Given the description of an element on the screen output the (x, y) to click on. 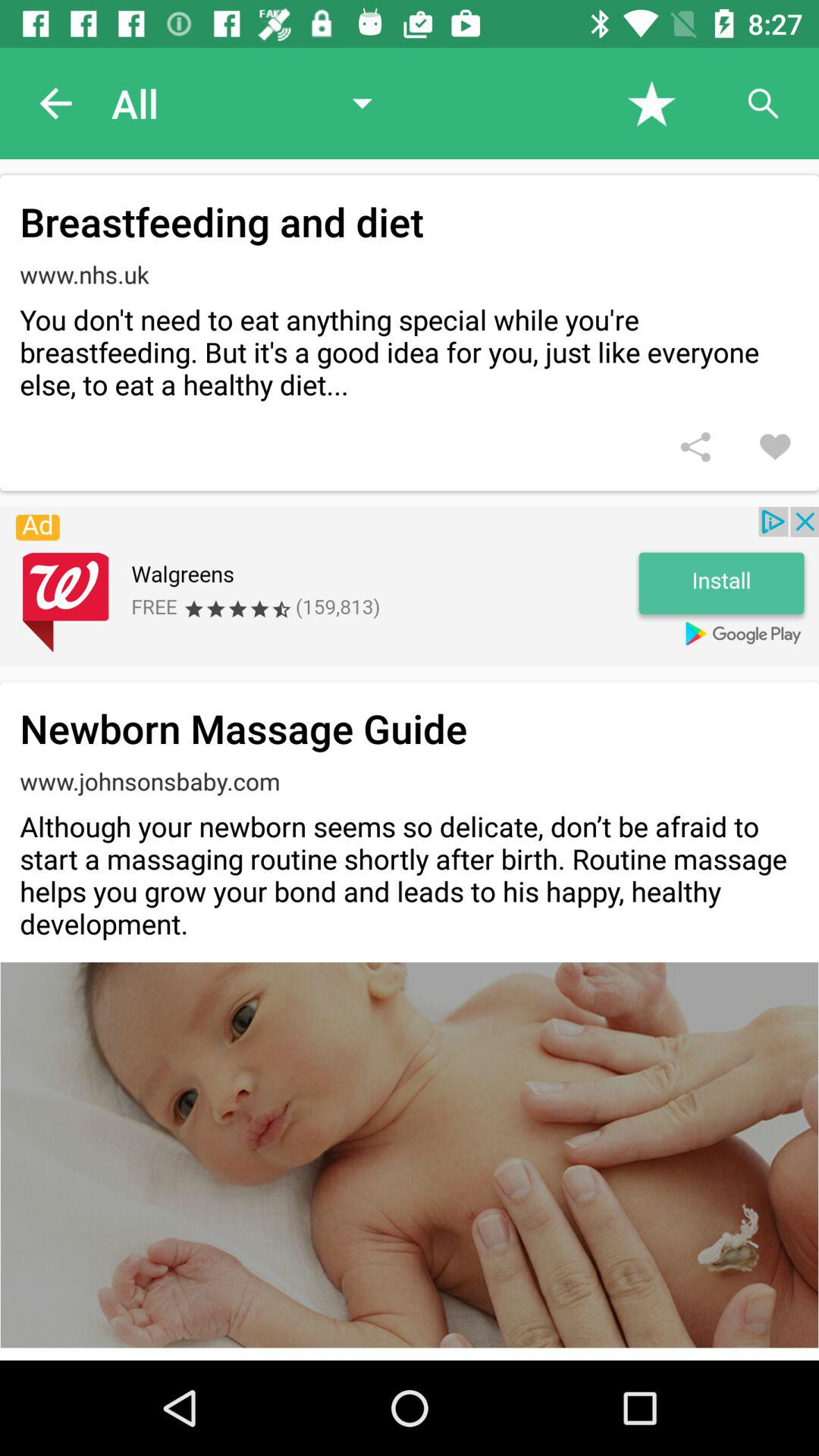
details about advertisement (409, 586)
